Given the description of an element on the screen output the (x, y) to click on. 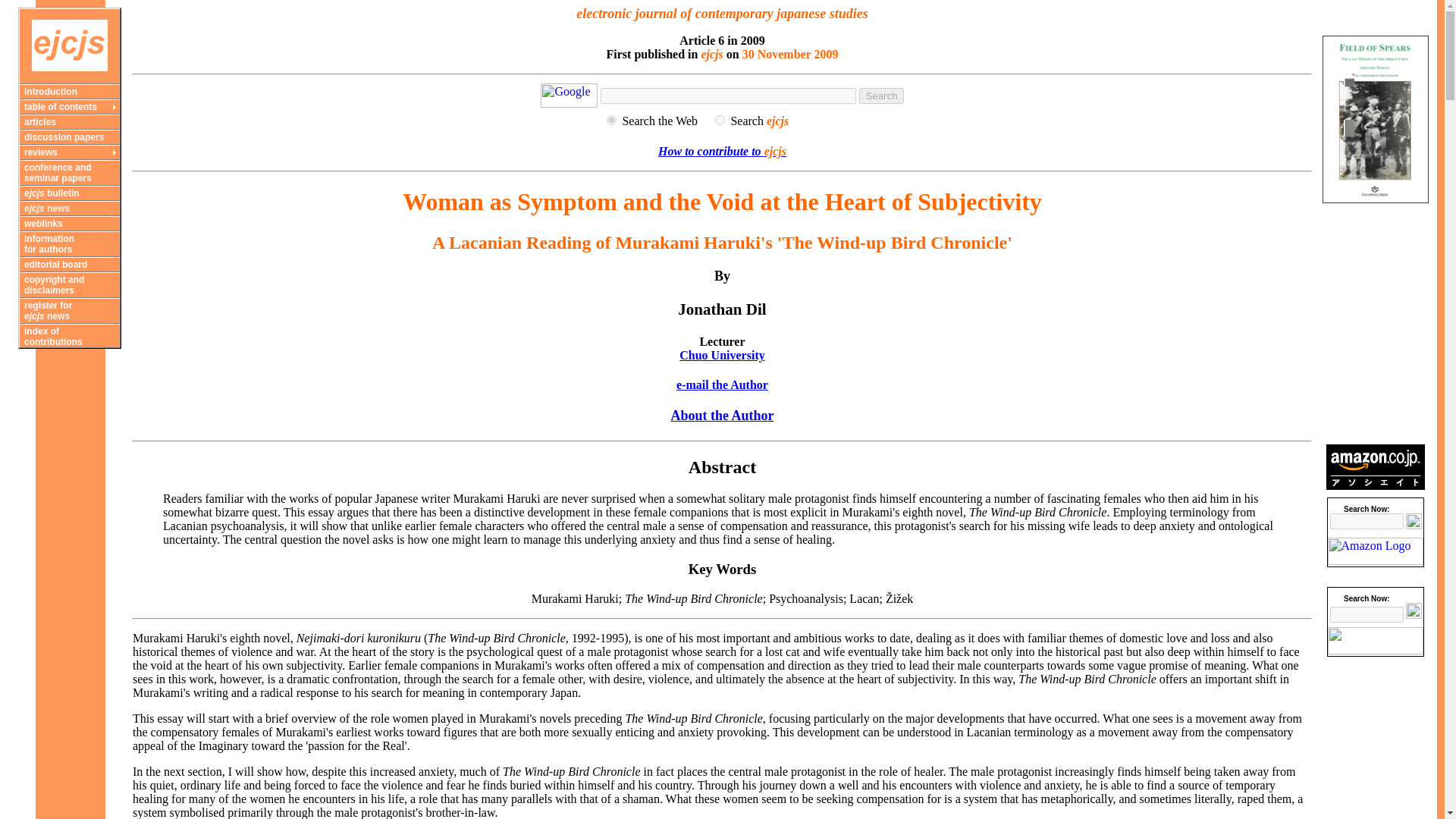
How to contribute to ejcjs (722, 151)
Go (1414, 521)
Search (880, 95)
Go (1414, 610)
About the Author (721, 415)
www.japanesestudies.org.uk (719, 120)
e-mail the Author (722, 384)
Chuo University (721, 354)
Small ejcjs logo (69, 45)
Search (880, 95)
